Given the description of an element on the screen output the (x, y) to click on. 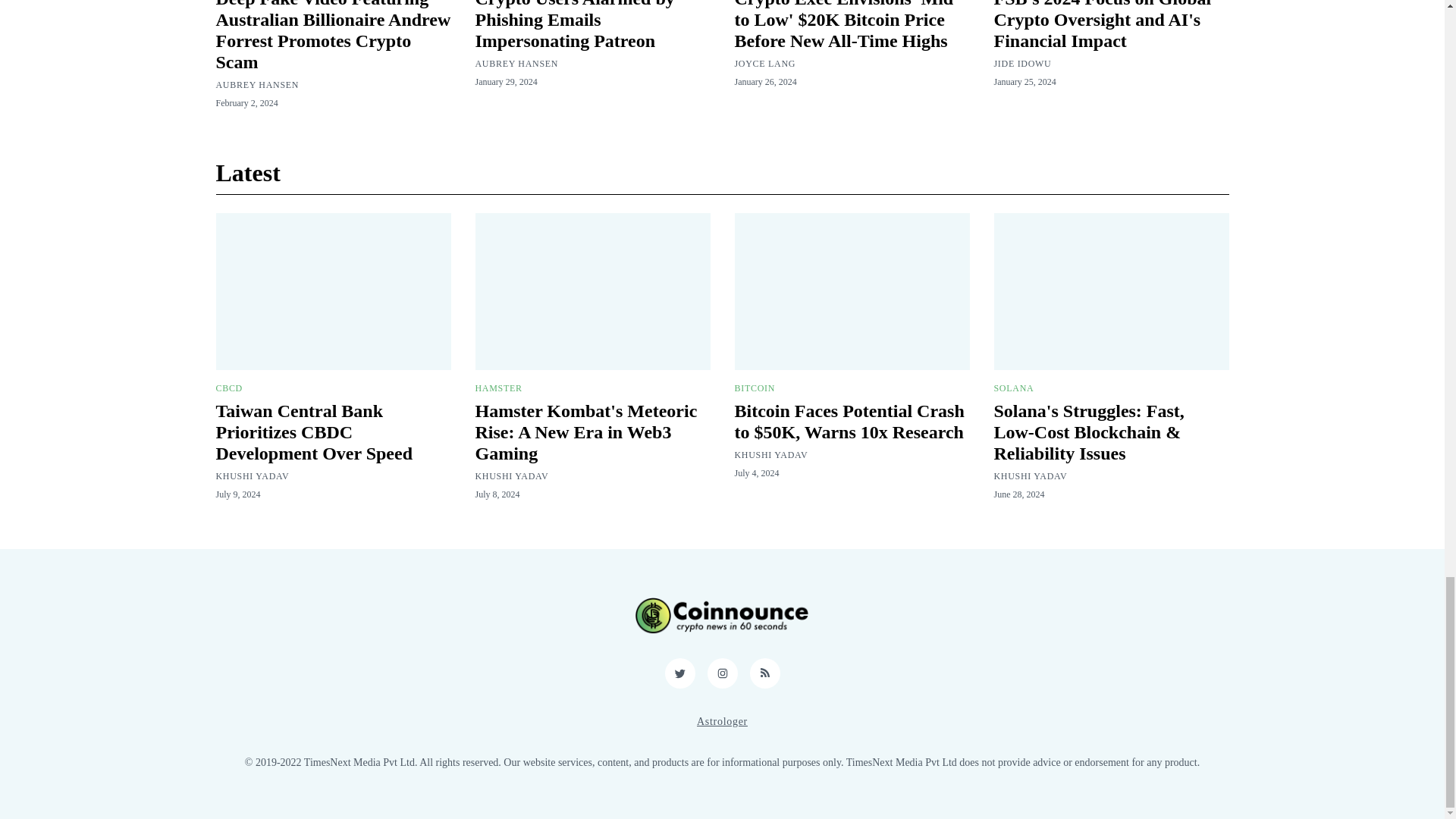
JOYCE LANG (763, 63)
AUBREY HANSEN (515, 63)
AUBREY HANSEN (256, 84)
